Given the description of an element on the screen output the (x, y) to click on. 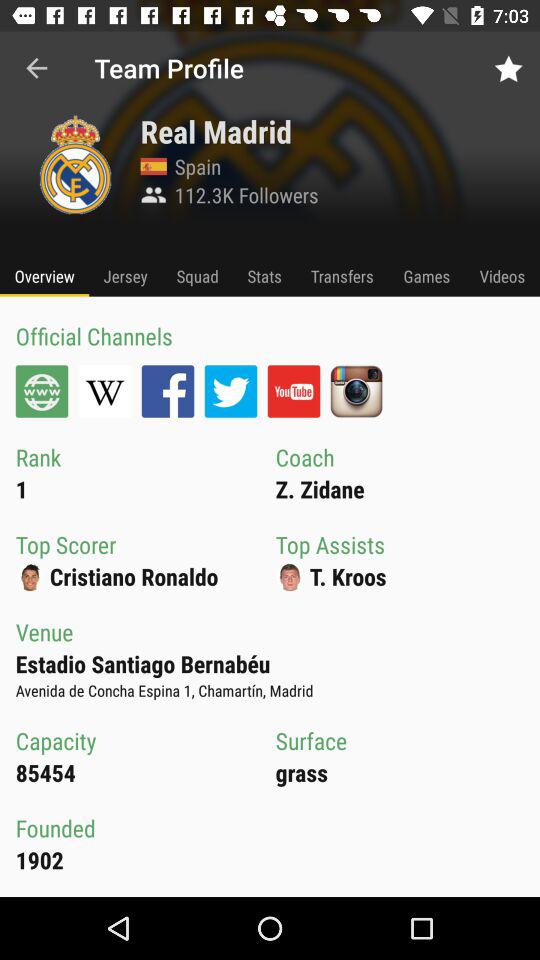
press icon above top assists icon (426, 276)
